Given the description of an element on the screen output the (x, y) to click on. 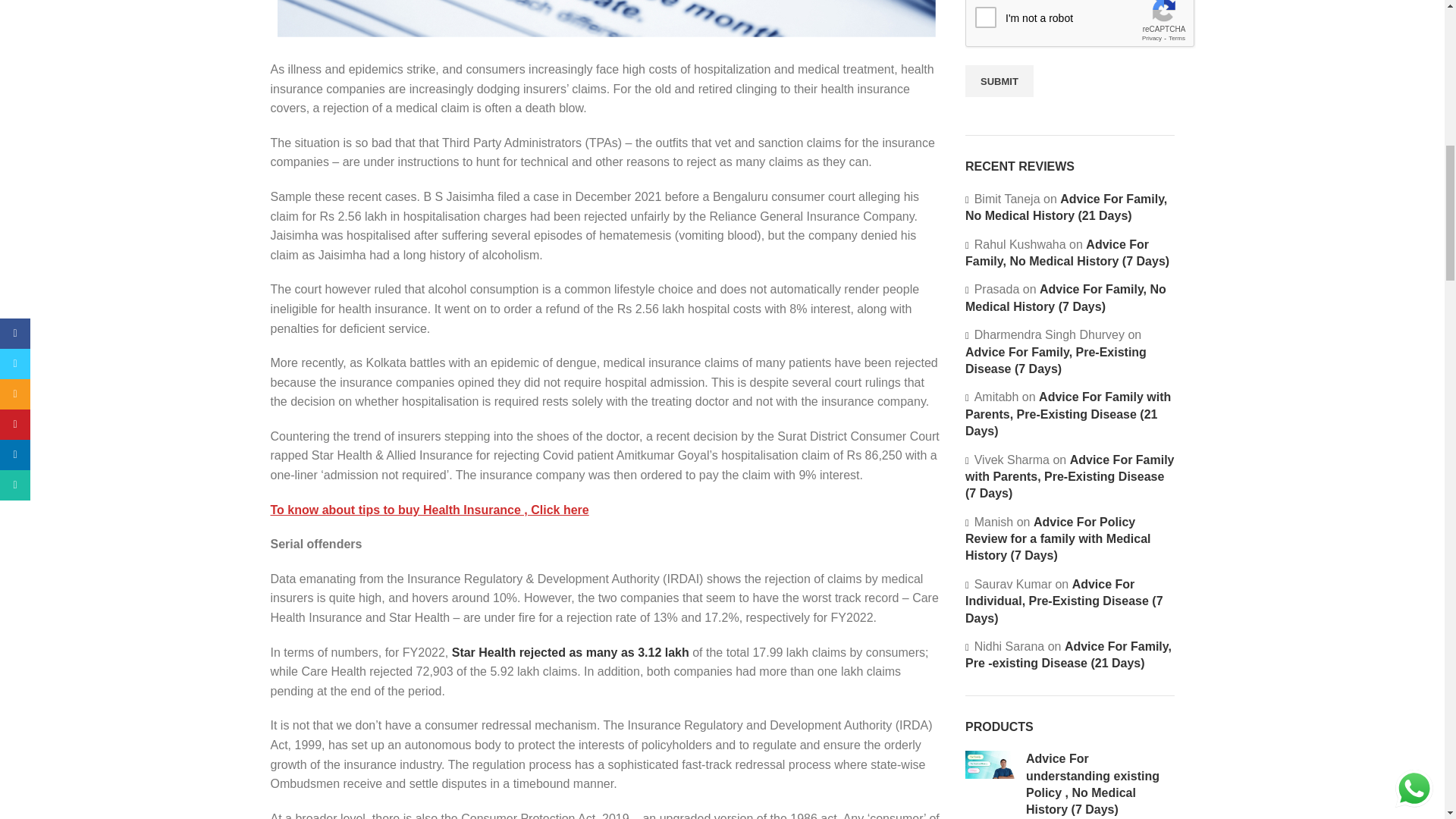
reCAPTCHA (1080, 24)
Star Health rejected as many as 3.12 lakh (572, 652)
To know about tips to buy Health Insurance , Click here (428, 509)
Submit (999, 81)
